Given the description of an element on the screen output the (x, y) to click on. 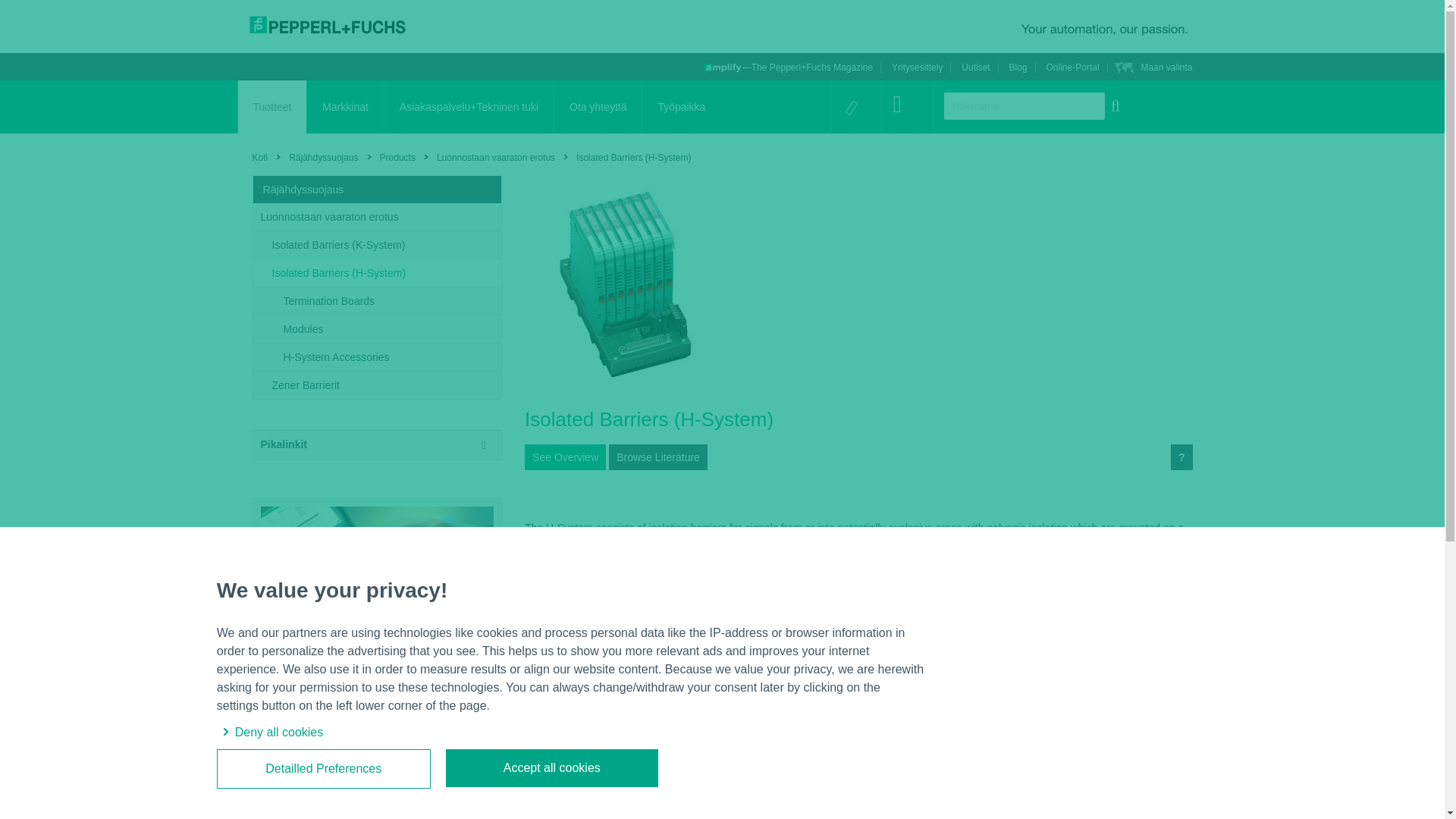
Tuotteet (272, 106)
Watch List (851, 111)
Markkinat (345, 106)
